Given the description of an element on the screen output the (x, y) to click on. 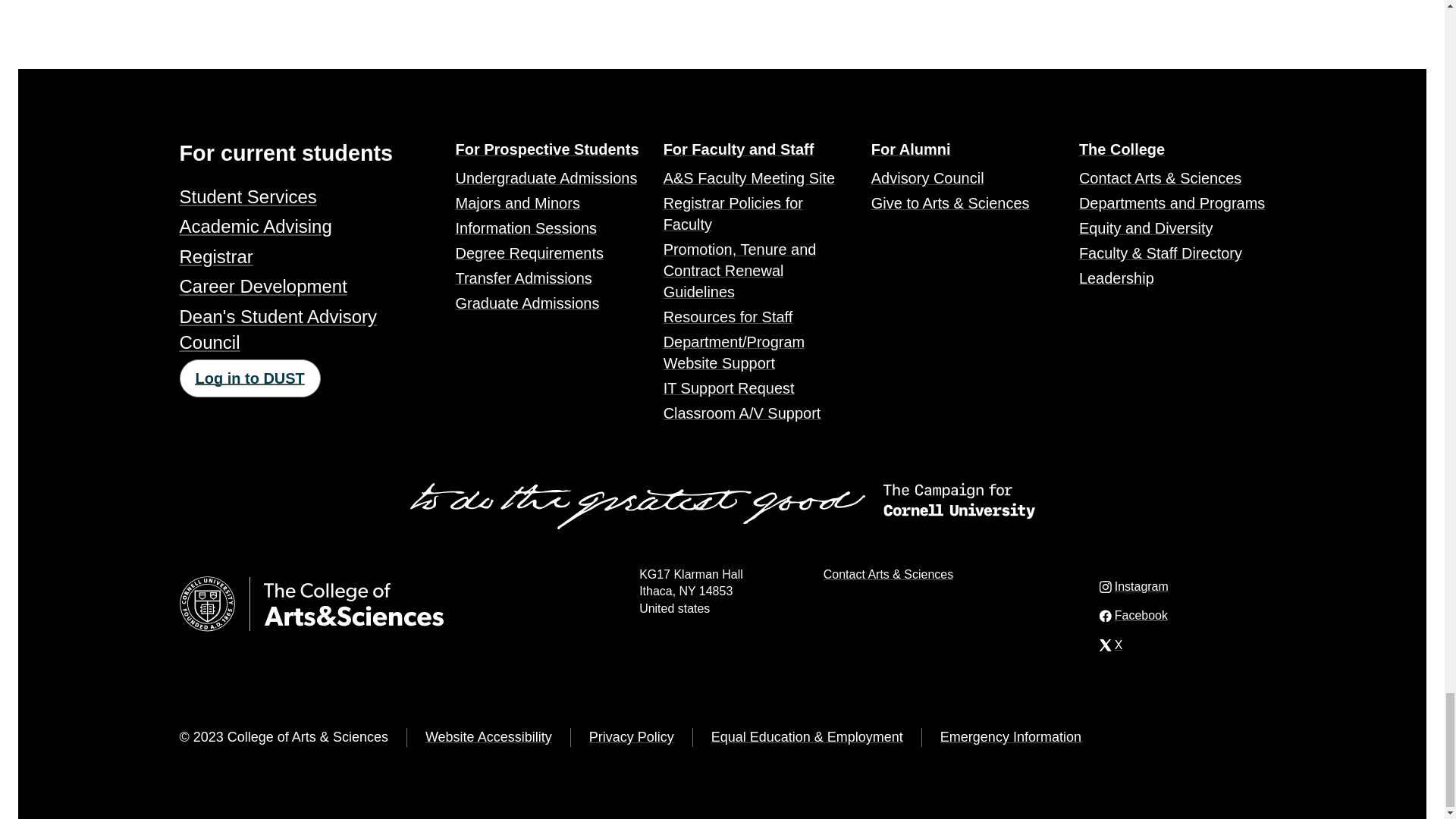
Cornell University (206, 603)
